Given the description of an element on the screen output the (x, y) to click on. 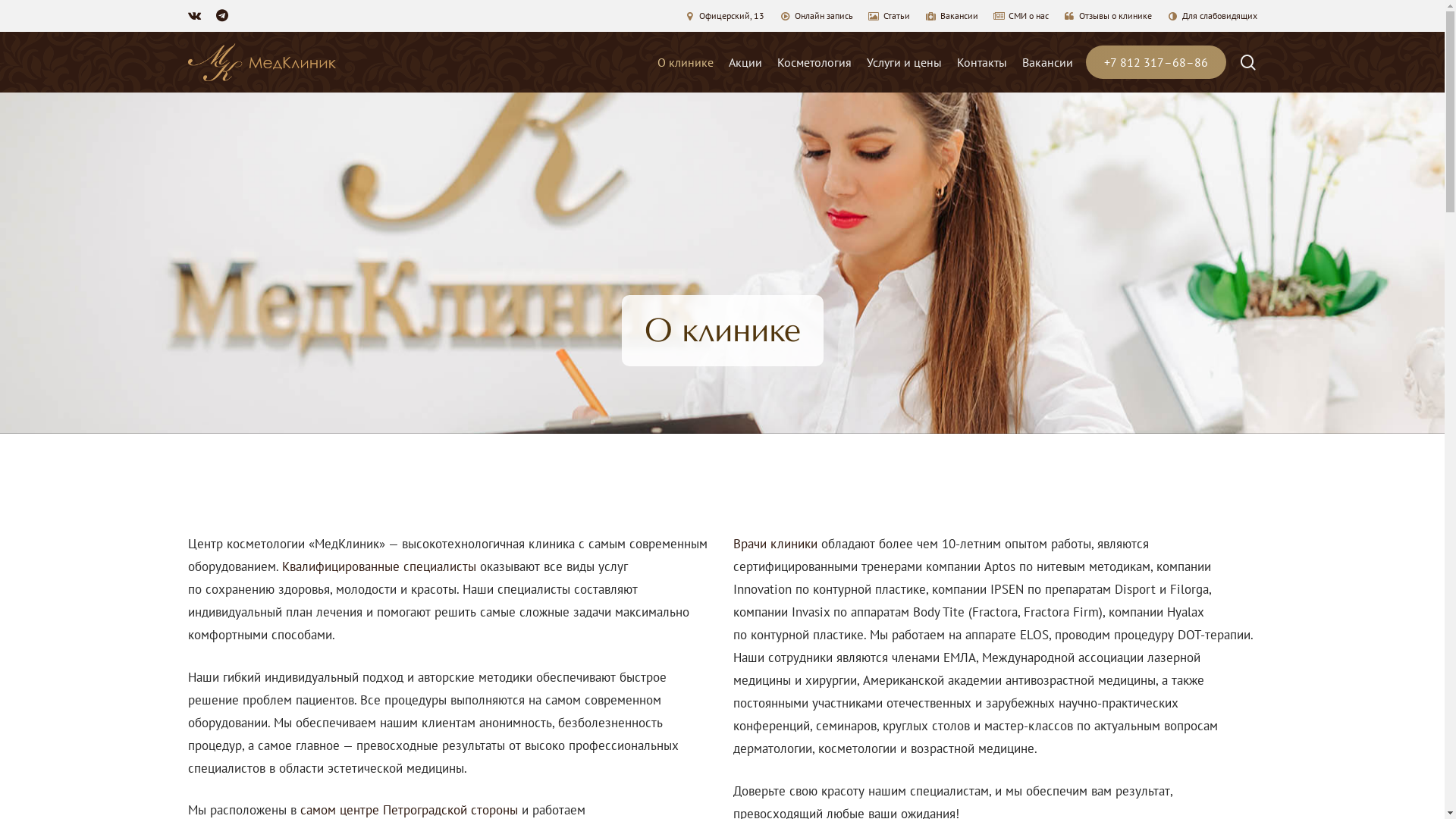
telegram Element type: text (221, 15)
search Element type: text (1248, 62)
vk Element type: text (194, 15)
